Given the description of an element on the screen output the (x, y) to click on. 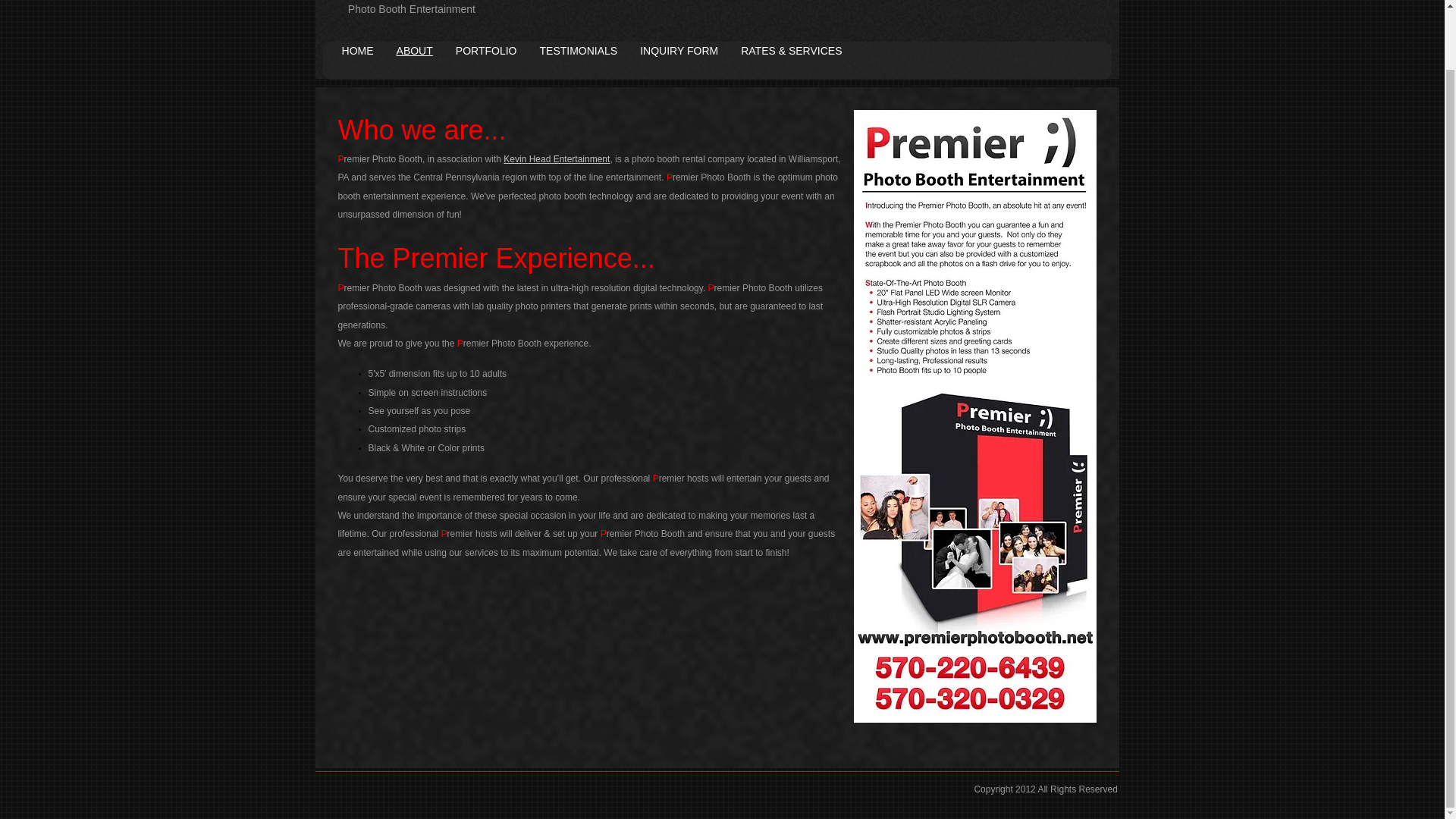
HOME (357, 50)
ABOUT (414, 50)
PORTFOLIO (486, 50)
TESTIMONIALS (577, 50)
Kevin Head Entertainment (556, 158)
INQUIRY FORM (678, 50)
